Given the description of an element on the screen output the (x, y) to click on. 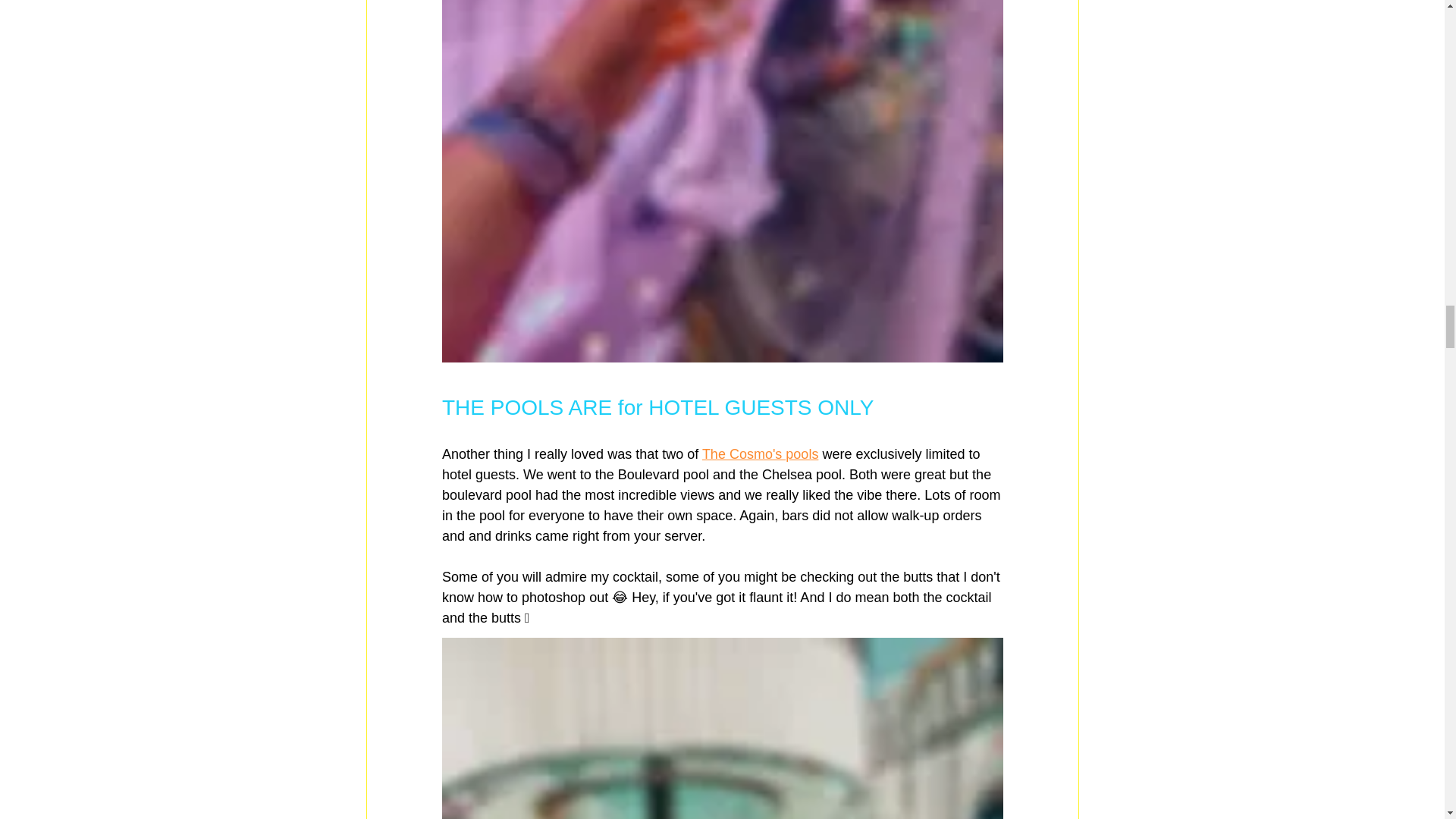
The Cosmo's pools (759, 453)
